Given the description of an element on the screen output the (x, y) to click on. 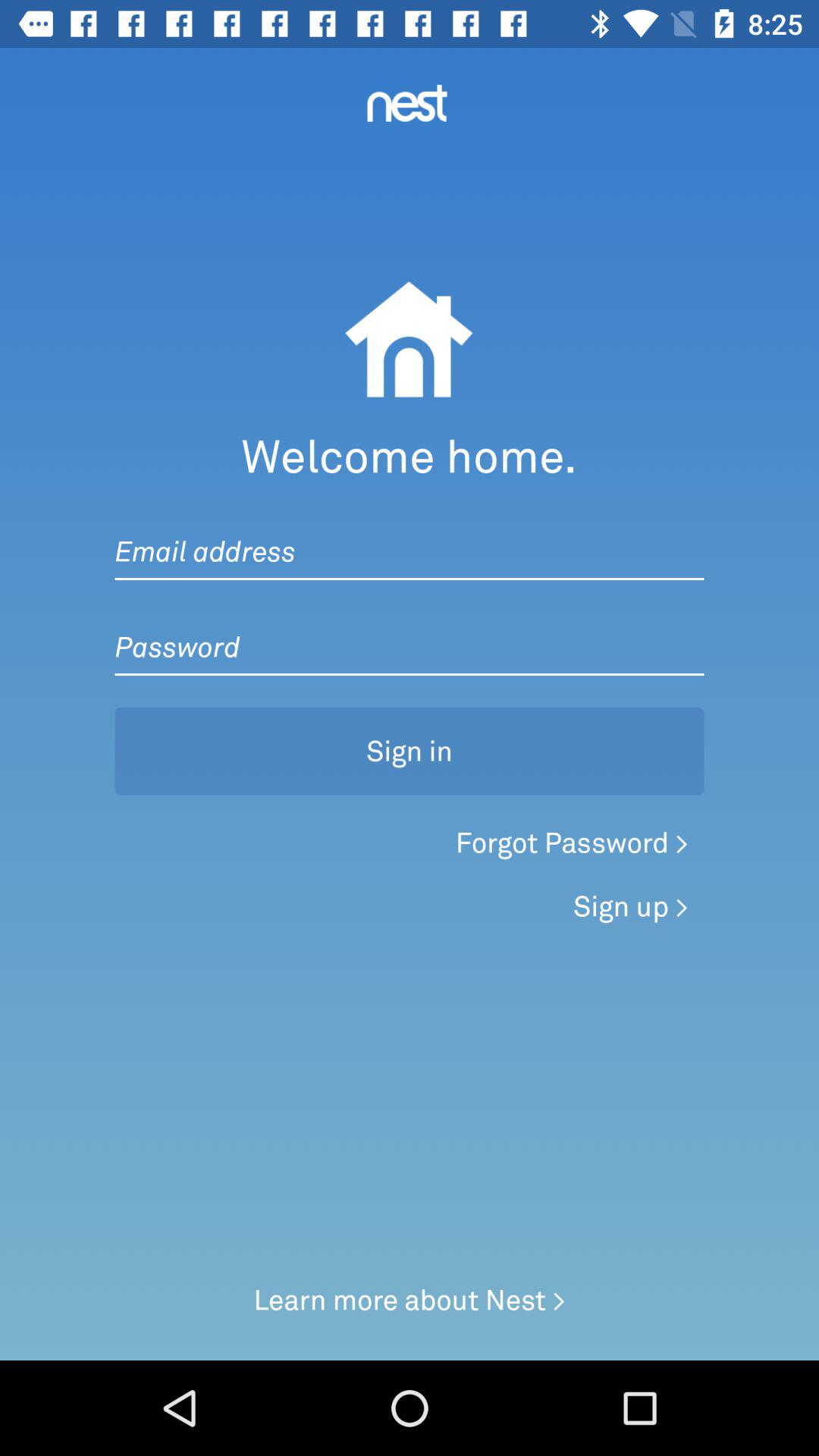
enter email (409, 536)
